Given the description of an element on the screen output the (x, y) to click on. 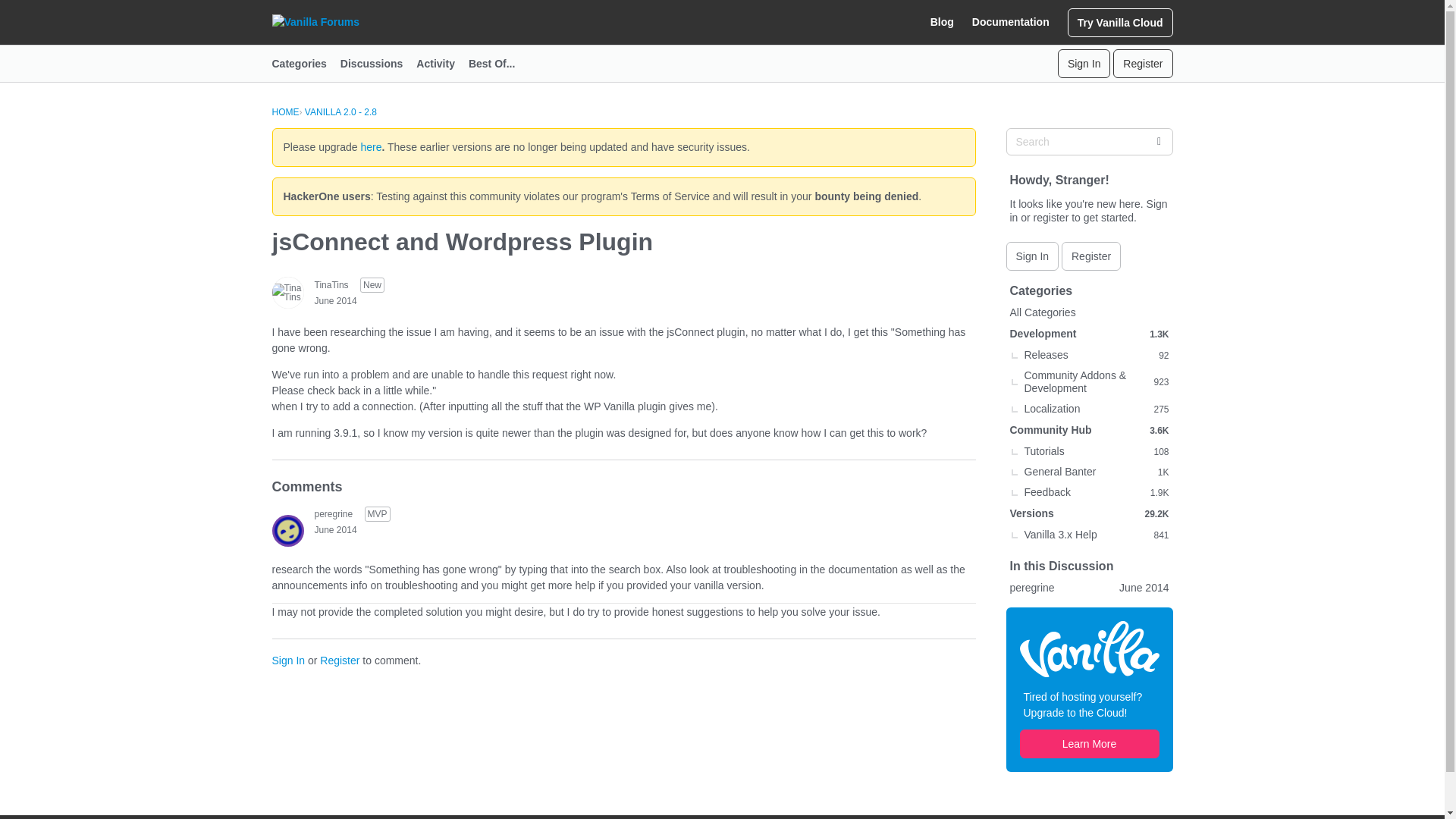
1,290 discussions (1159, 334)
1,858 discussions (1159, 491)
841 discussions (1161, 534)
Sign In (287, 659)
923 discussions (1161, 382)
Register (1091, 256)
Categories (304, 63)
Try Vanilla Cloud (1120, 21)
29,182 discussions (1156, 513)
Vanilla (1088, 648)
